Given the description of an element on the screen output the (x, y) to click on. 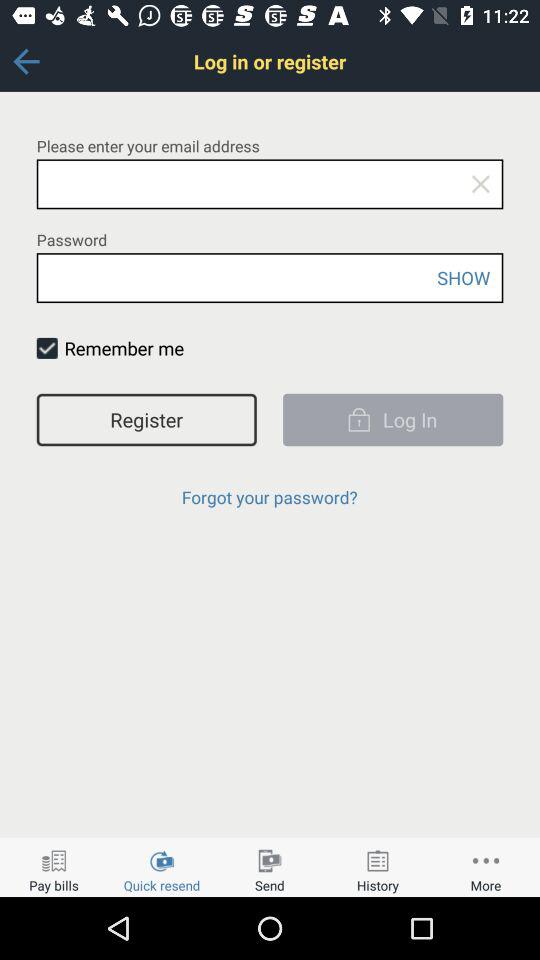
insert password (269, 278)
